Given the description of an element on the screen output the (x, y) to click on. 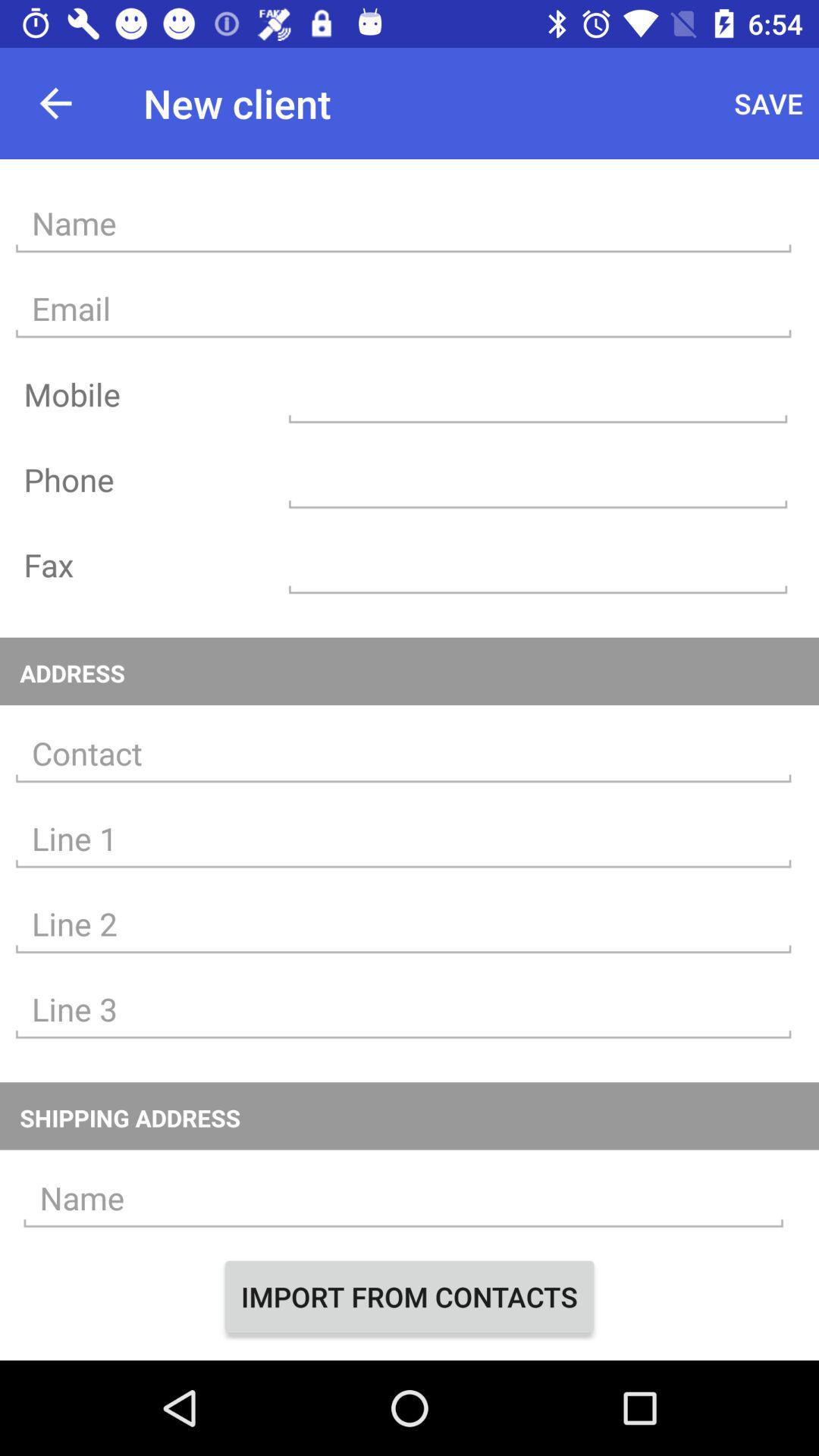
open the item above import from contacts item (403, 1198)
